Given the description of an element on the screen output the (x, y) to click on. 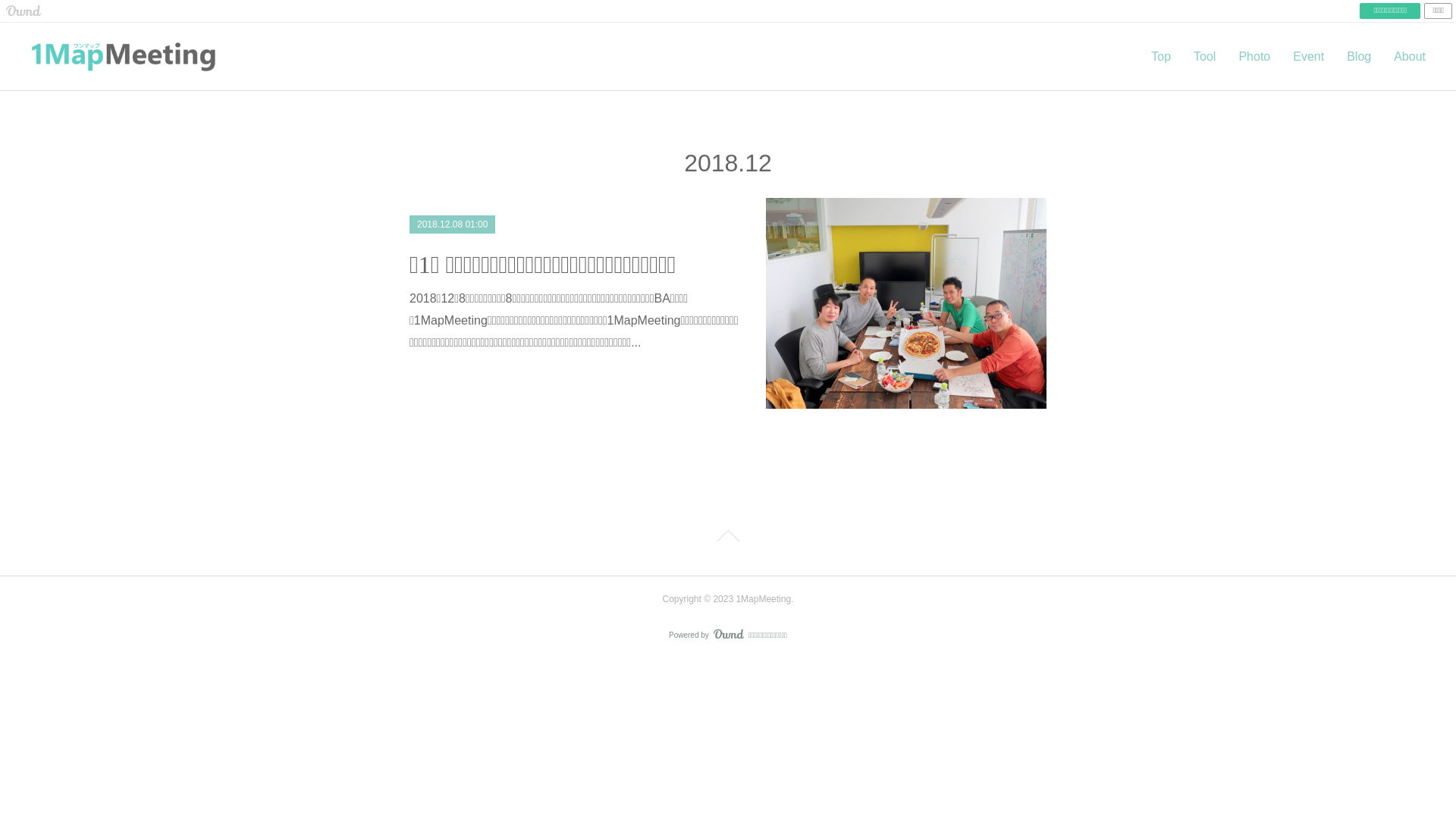
About Element type: text (1409, 56)
Event Element type: text (1308, 56)
Top Element type: text (1160, 56)
2018.12.08 01:00 Element type: text (452, 224)
Photo Element type: text (1253, 56)
Tool Element type: text (1204, 56)
Blog Element type: text (1358, 56)
